Given the description of an element on the screen output the (x, y) to click on. 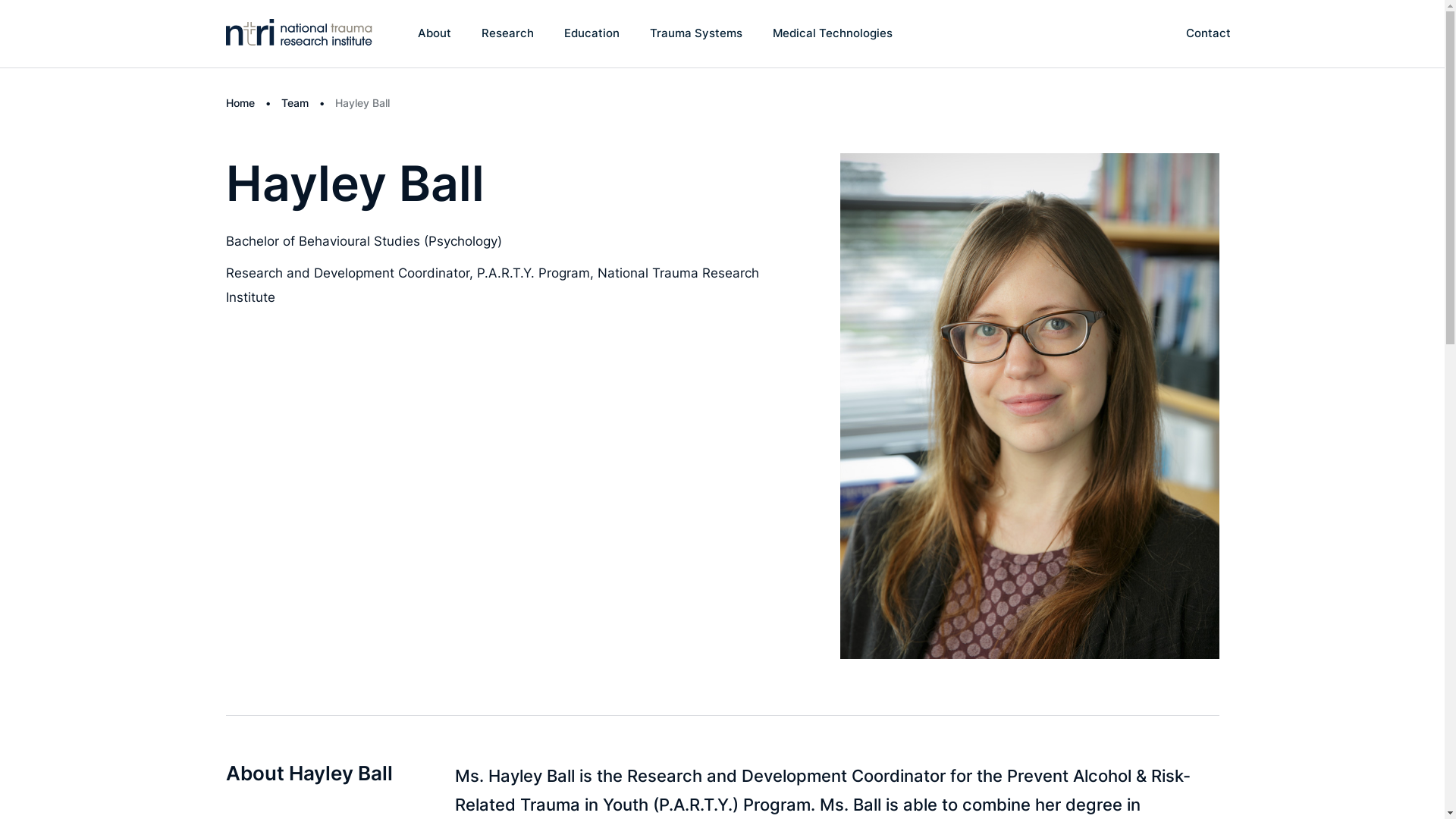
Home Element type: text (239, 102)
Contact Element type: text (1208, 32)
Research Element type: text (507, 32)
Medical Technologies Element type: text (832, 32)
Trauma Systems Element type: text (695, 32)
Team Element type: text (293, 102)
Education Element type: text (591, 32)
About Element type: text (434, 32)
